Given the description of an element on the screen output the (x, y) to click on. 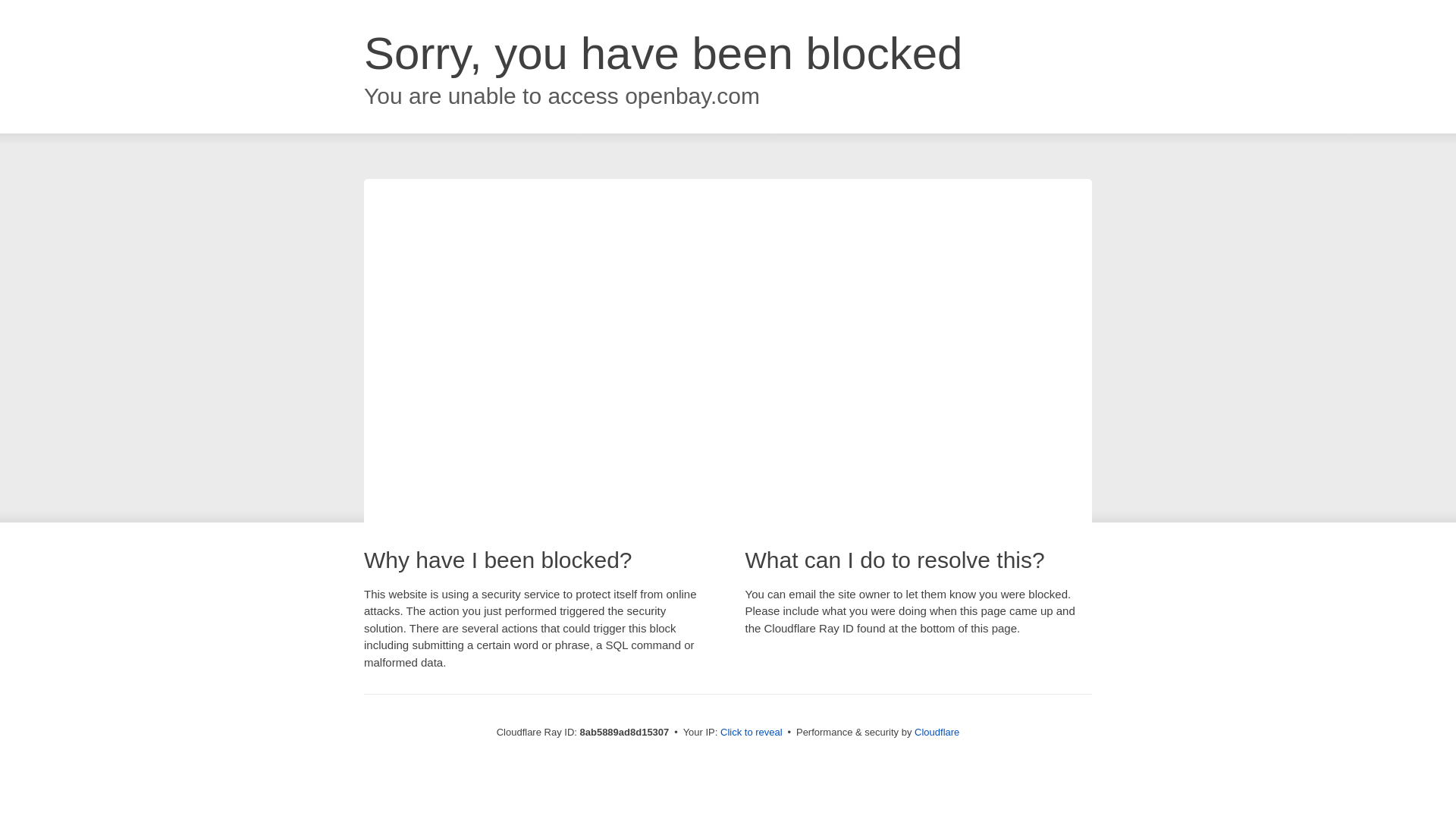
Click to reveal (751, 732)
Cloudflare (936, 731)
